Given the description of an element on the screen output the (x, y) to click on. 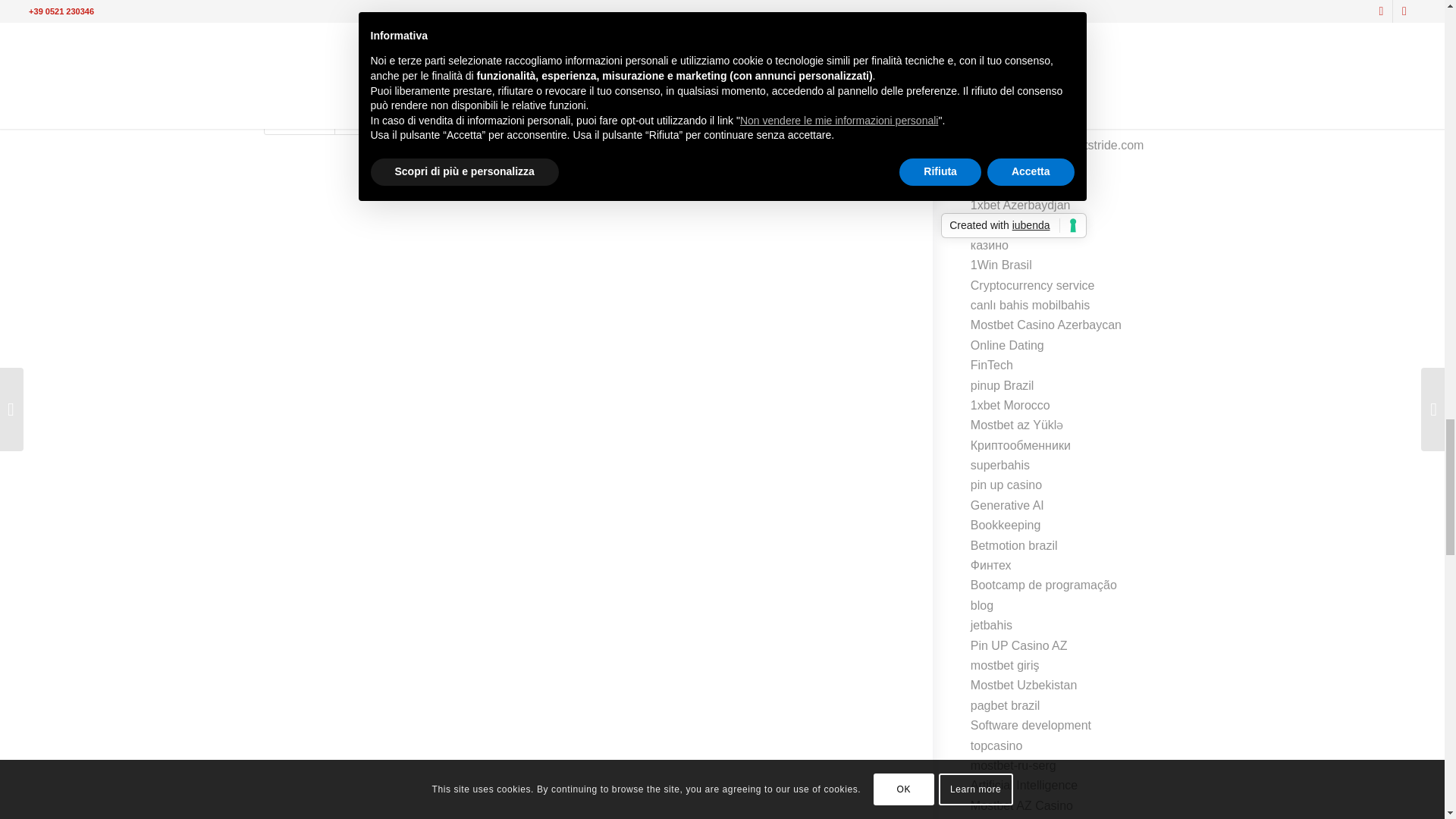
Fai clic per condividere su X (369, 8)
Facebook (301, 8)
Fai clic per condividere su Facebook (301, 8)
X (369, 8)
